Given the description of an element on the screen output the (x, y) to click on. 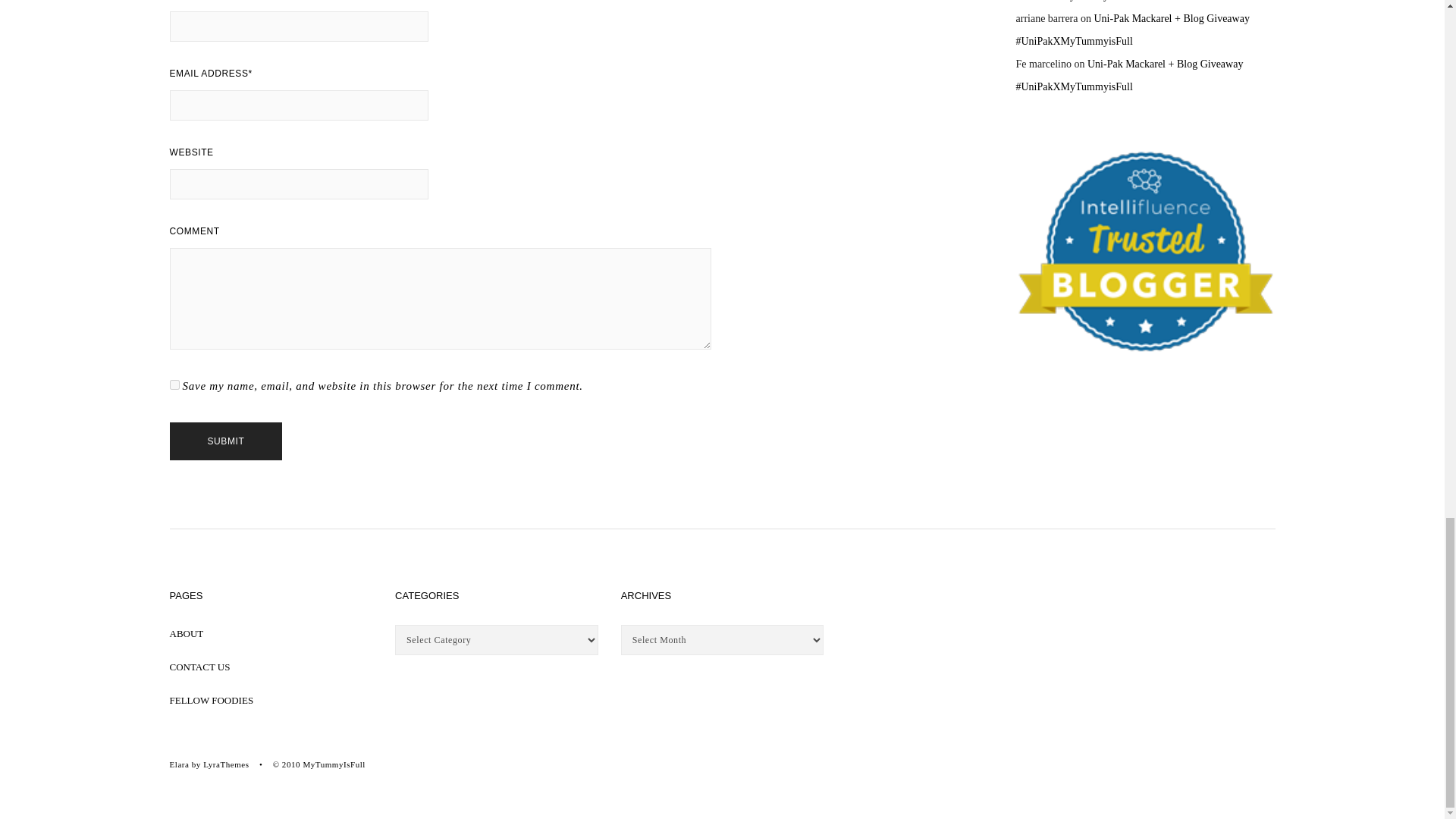
Submit (226, 441)
FELLOW FOODIES (211, 699)
MyTummyIsFull (333, 764)
Elara (179, 764)
ABOUT (186, 633)
CONTACT US (200, 666)
yes (174, 384)
Submit (226, 441)
